Given the description of an element on the screen output the (x, y) to click on. 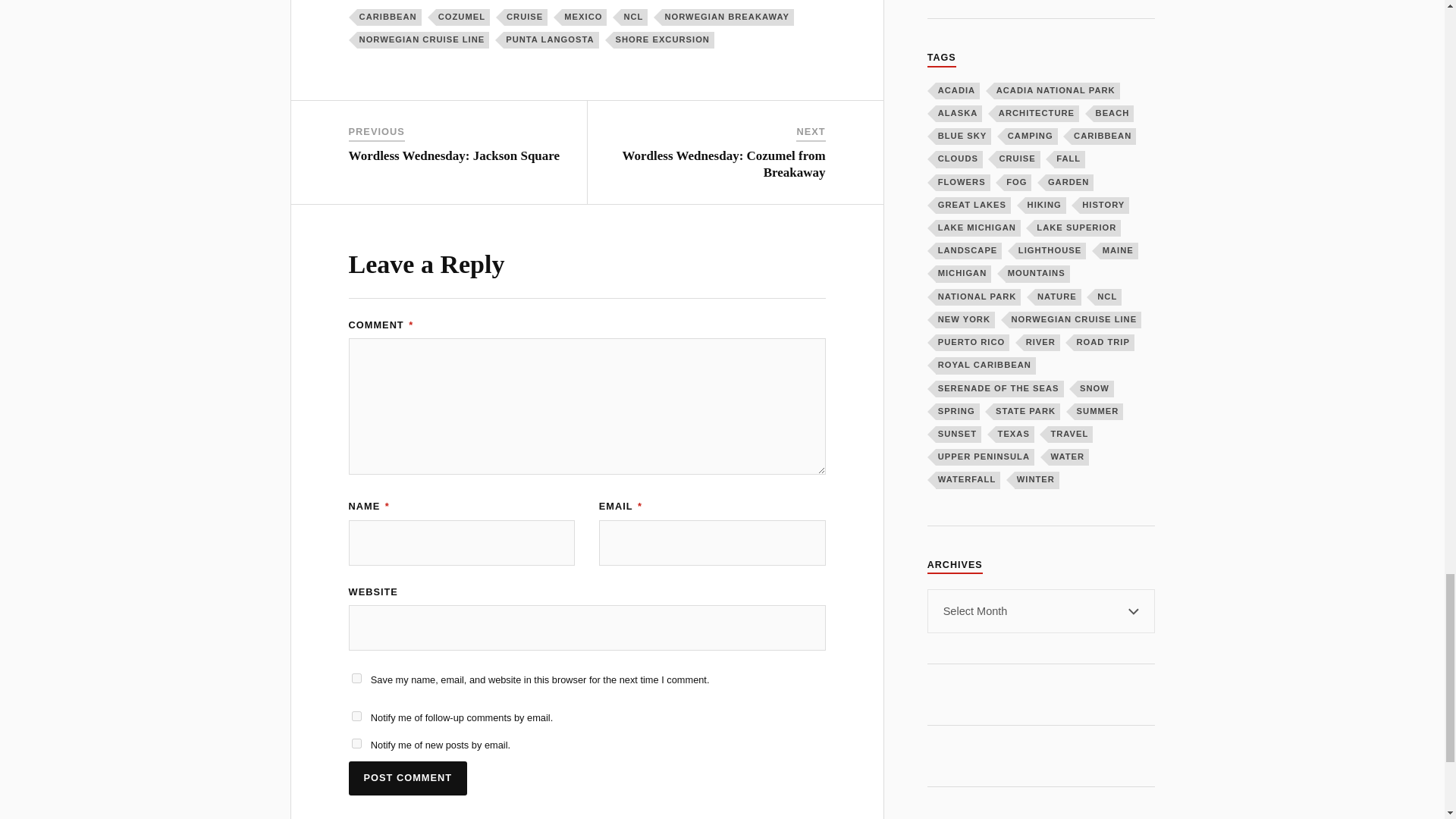
CARIBBEAN (389, 17)
NCL (634, 17)
Wordless Wednesday: Jackson Square (454, 155)
subscribe (356, 716)
COZUMEL (462, 17)
NORWEGIAN CRUISE LINE (422, 39)
Post Comment (408, 778)
subscribe (356, 743)
SHORE EXCURSION (663, 39)
yes (356, 678)
